Given the description of an element on the screen output the (x, y) to click on. 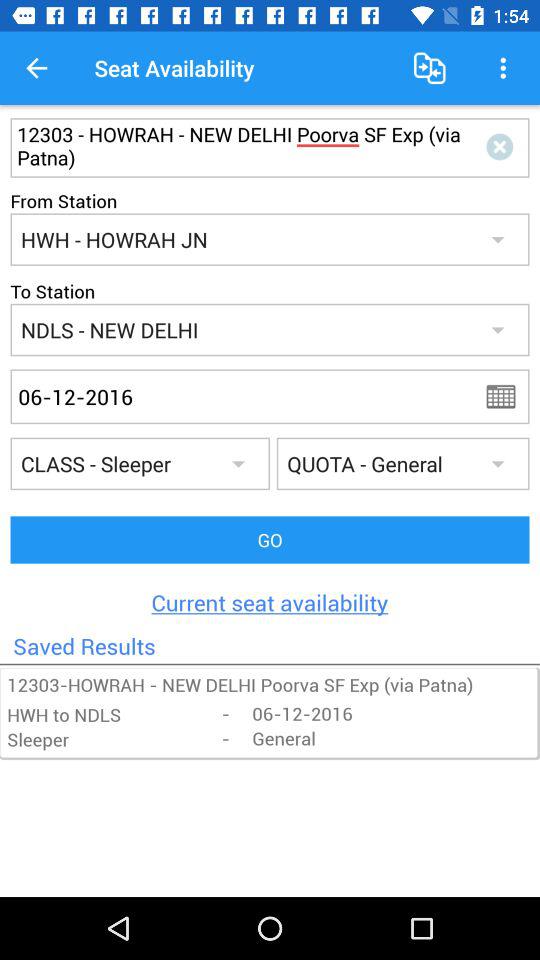
exit (503, 147)
